Given the description of an element on the screen output the (x, y) to click on. 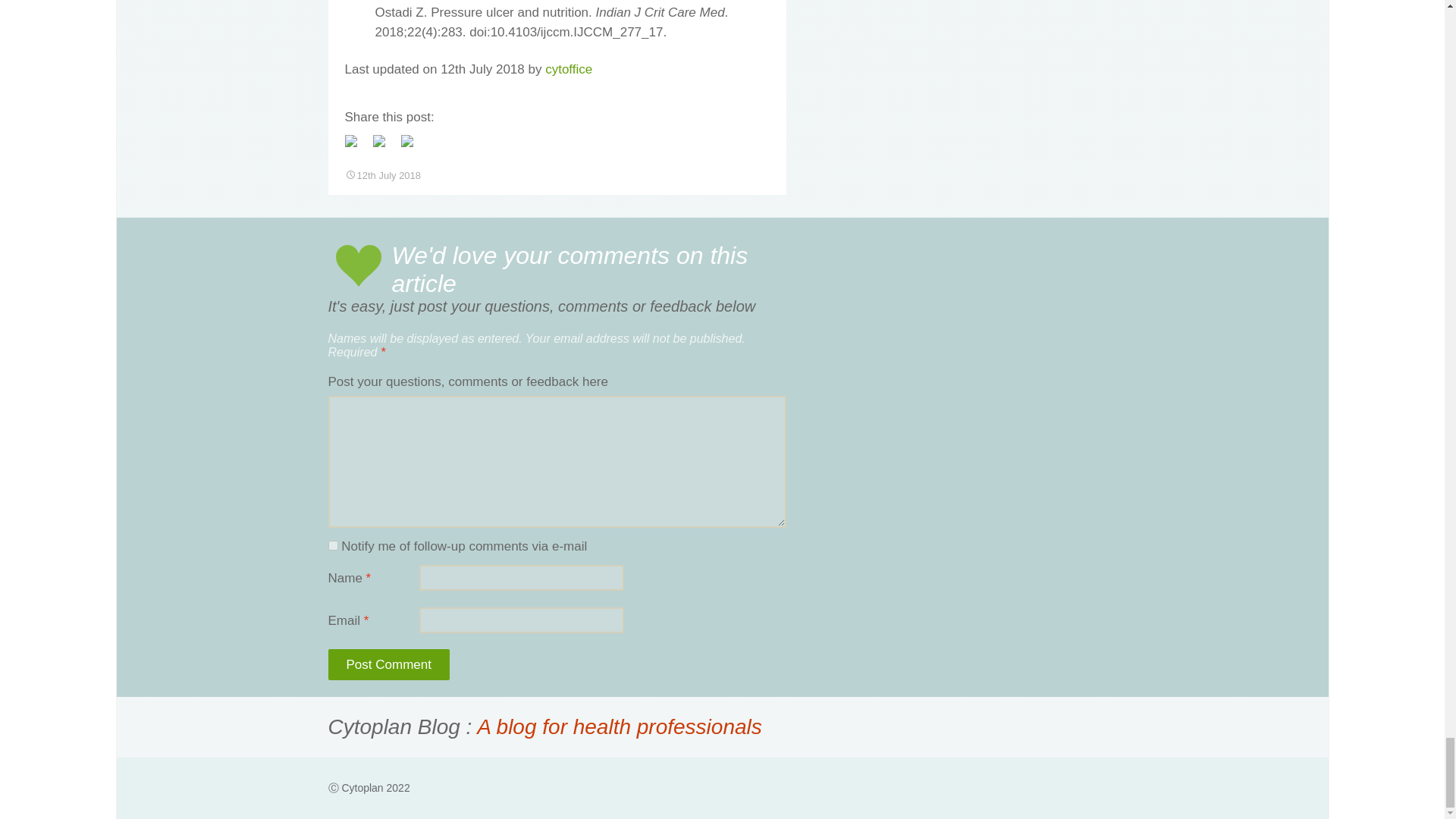
Share by email (412, 146)
Share on Facebook (349, 141)
Share on Facebook (355, 146)
Share by email (406, 141)
Share on Twitter (378, 141)
Share on Twitter (384, 146)
Permalink to Supporting repair after injury (381, 174)
subscribe (332, 545)
Post Comment (387, 664)
